Given the description of an element on the screen output the (x, y) to click on. 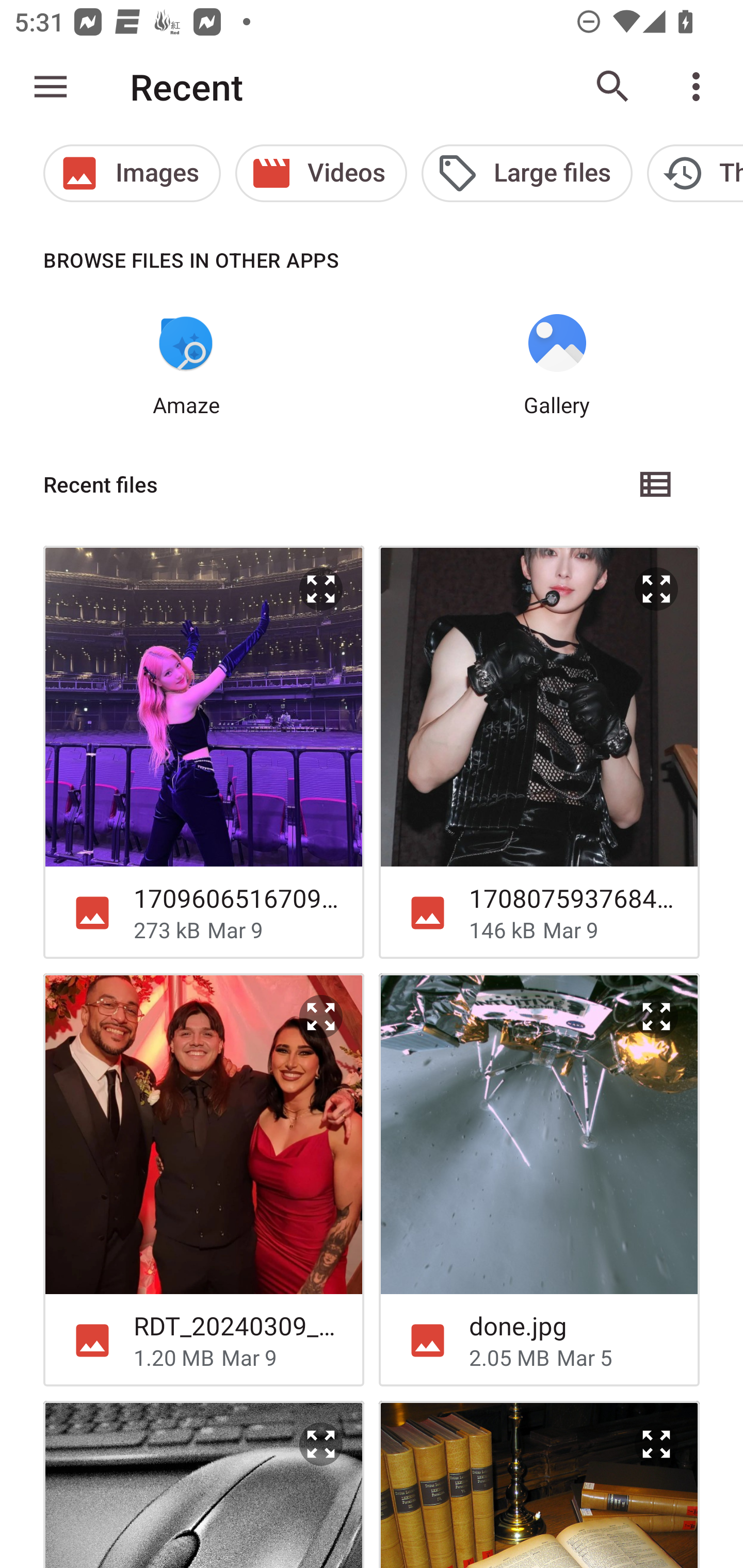
Show roots (50, 86)
Search (612, 86)
More options (699, 86)
Images (131, 173)
Videos (321, 173)
Large files (526, 173)
Amaze (185, 365)
Gallery (557, 365)
List view (655, 484)
Preview the file done.jpg done.jpg 2.05 MB Mar 5 (538, 1179)
Preview the file done.jpg (655, 1016)
Preview the file Latin dictionary.jpg (655, 1444)
